Given the description of an element on the screen output the (x, y) to click on. 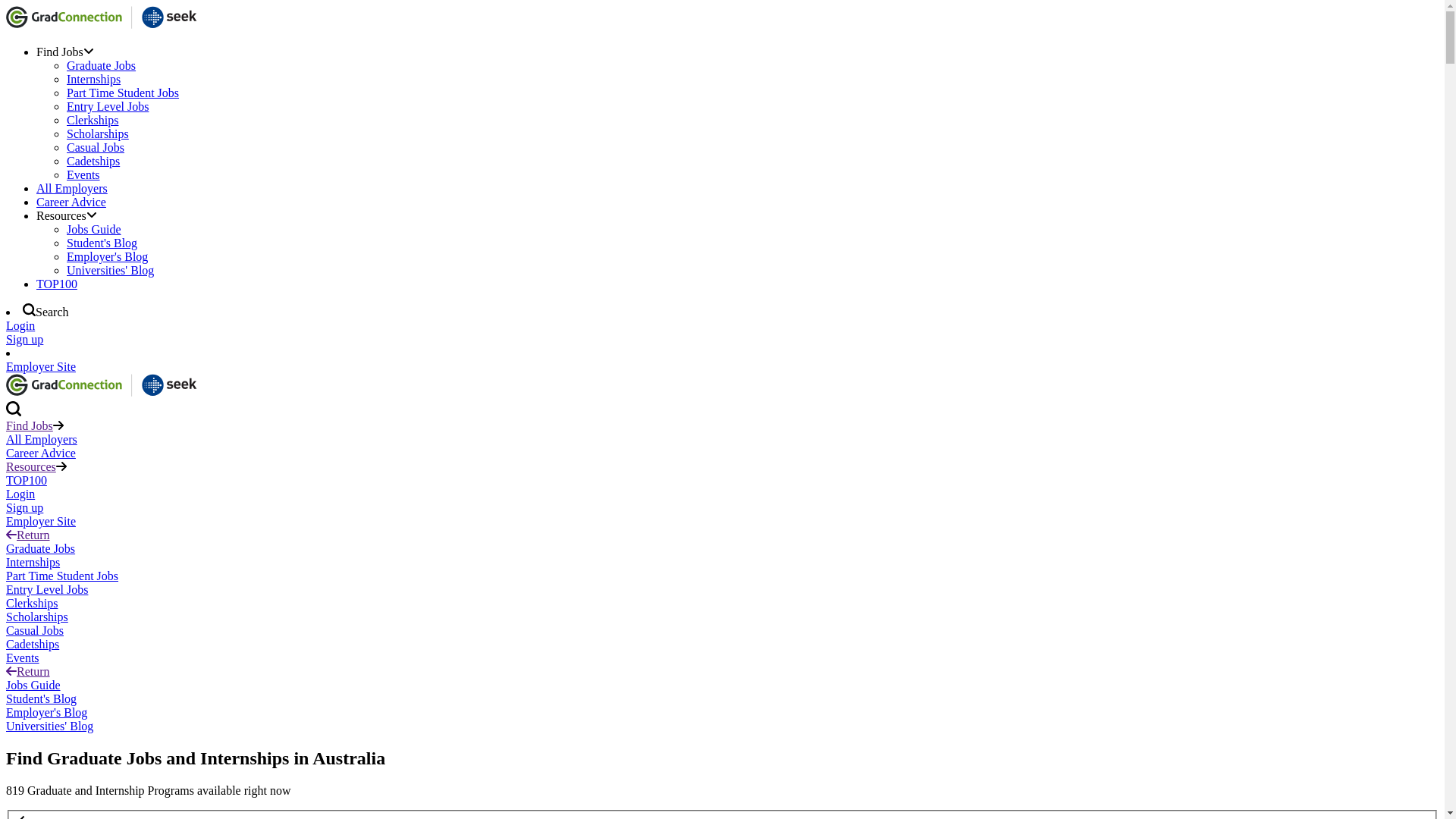
Clerkships Element type: text (92, 119)
All Employers Element type: text (71, 188)
Student's Blog Element type: text (41, 698)
Entry Level Jobs Element type: text (107, 106)
Employer Site Element type: text (40, 366)
Universities' Blog Element type: text (109, 269)
Part Time Student Jobs Element type: text (122, 92)
Career Advice Element type: text (40, 452)
Sign up Element type: text (24, 338)
Search Graduate Jobs and Employers Element type: hover (13, 411)
Graduate Jobs Element type: text (100, 65)
Sign up Element type: text (24, 507)
Employer Site Element type: text (40, 520)
TOP100 Element type: text (56, 283)
Find Jobs Element type: text (29, 425)
Career Advice Element type: text (71, 201)
Graduate Jobs Element type: text (40, 548)
Scholarships Element type: text (97, 133)
Casual Jobs Element type: text (34, 630)
Student's Blog Element type: text (101, 242)
Home page for GradConnection Element type: hover (104, 393)
Resources Element type: text (31, 466)
Employer's Blog Element type: text (46, 712)
Login Element type: text (20, 325)
Search Element type: text (45, 311)
Home page for GradConnection Element type: hover (104, 25)
Clerkships Element type: text (31, 602)
Casual Jobs Element type: text (95, 147)
Events Element type: text (83, 174)
Login Element type: text (20, 493)
Events Element type: text (22, 657)
Part Time Student Jobs Element type: text (62, 575)
Employer's Blog Element type: text (106, 256)
Scholarships Element type: text (37, 616)
Internships Element type: text (93, 78)
Return Element type: text (28, 671)
Return Element type: text (28, 534)
Find Jobs Element type: text (65, 51)
Jobs Guide Element type: text (93, 228)
Cadetships Element type: text (92, 160)
Entry Level Jobs Element type: text (46, 589)
Cadetships Element type: text (32, 643)
TOP100 Element type: text (26, 479)
All Employers Element type: text (41, 439)
Internships Element type: text (32, 561)
Resources Element type: text (66, 215)
Jobs Guide Element type: text (33, 684)
Universities' Blog Element type: text (49, 725)
